Given the description of an element on the screen output the (x, y) to click on. 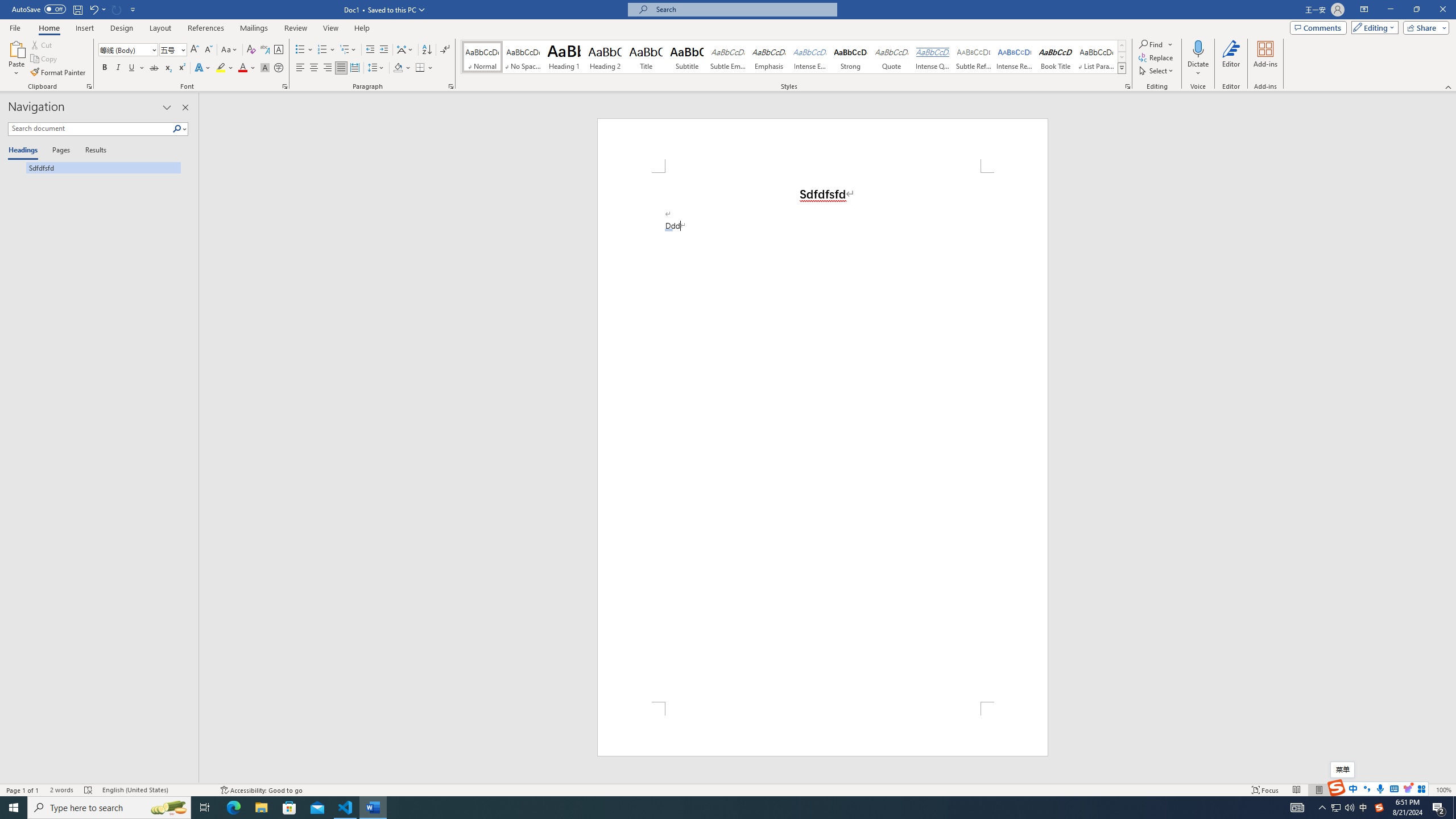
Book Title (1055, 56)
Intense Reference (1014, 56)
